Given the description of an element on the screen output the (x, y) to click on. 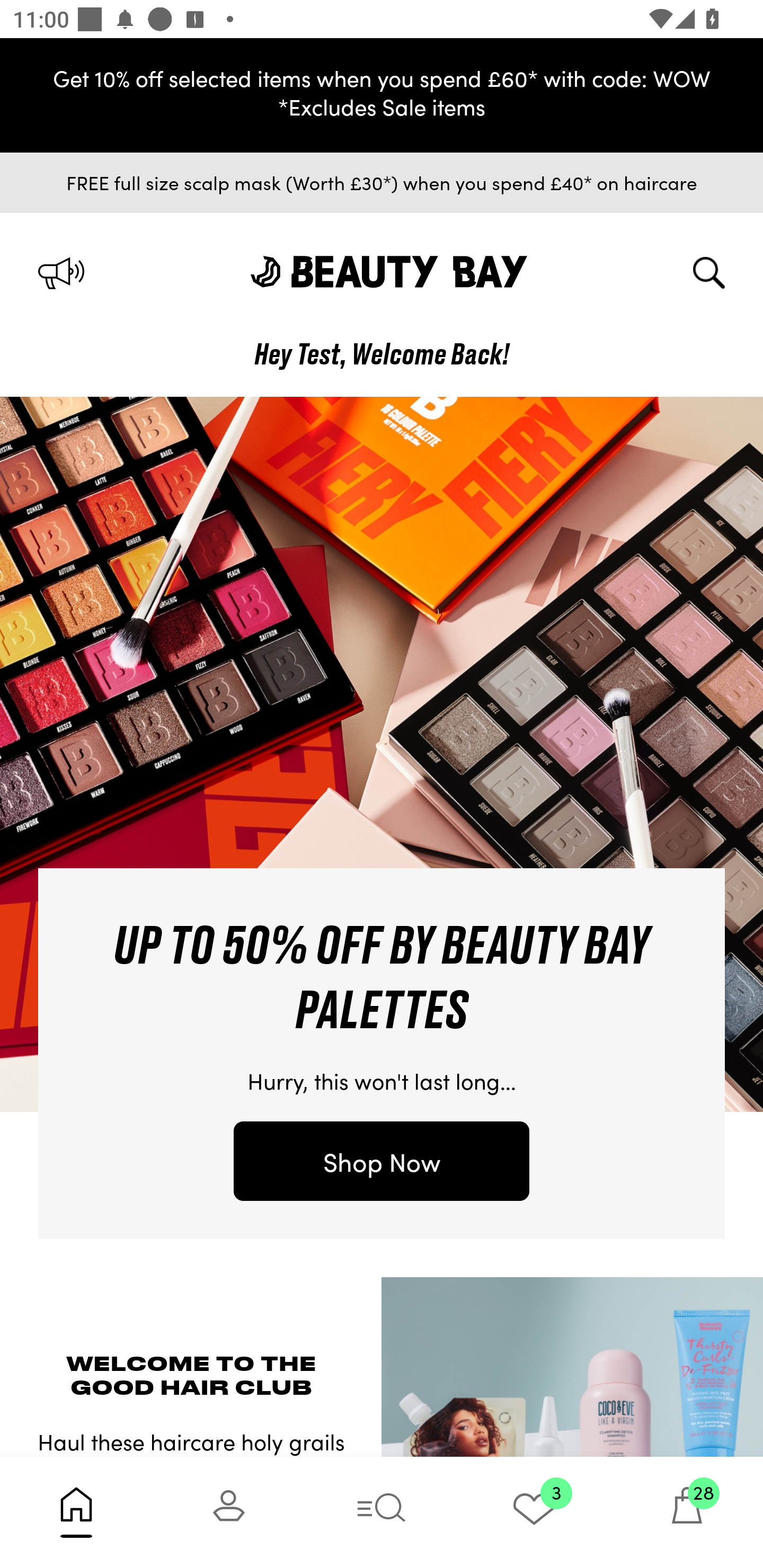
3 (533, 1512)
28 (686, 1512)
